Given the description of an element on the screen output the (x, y) to click on. 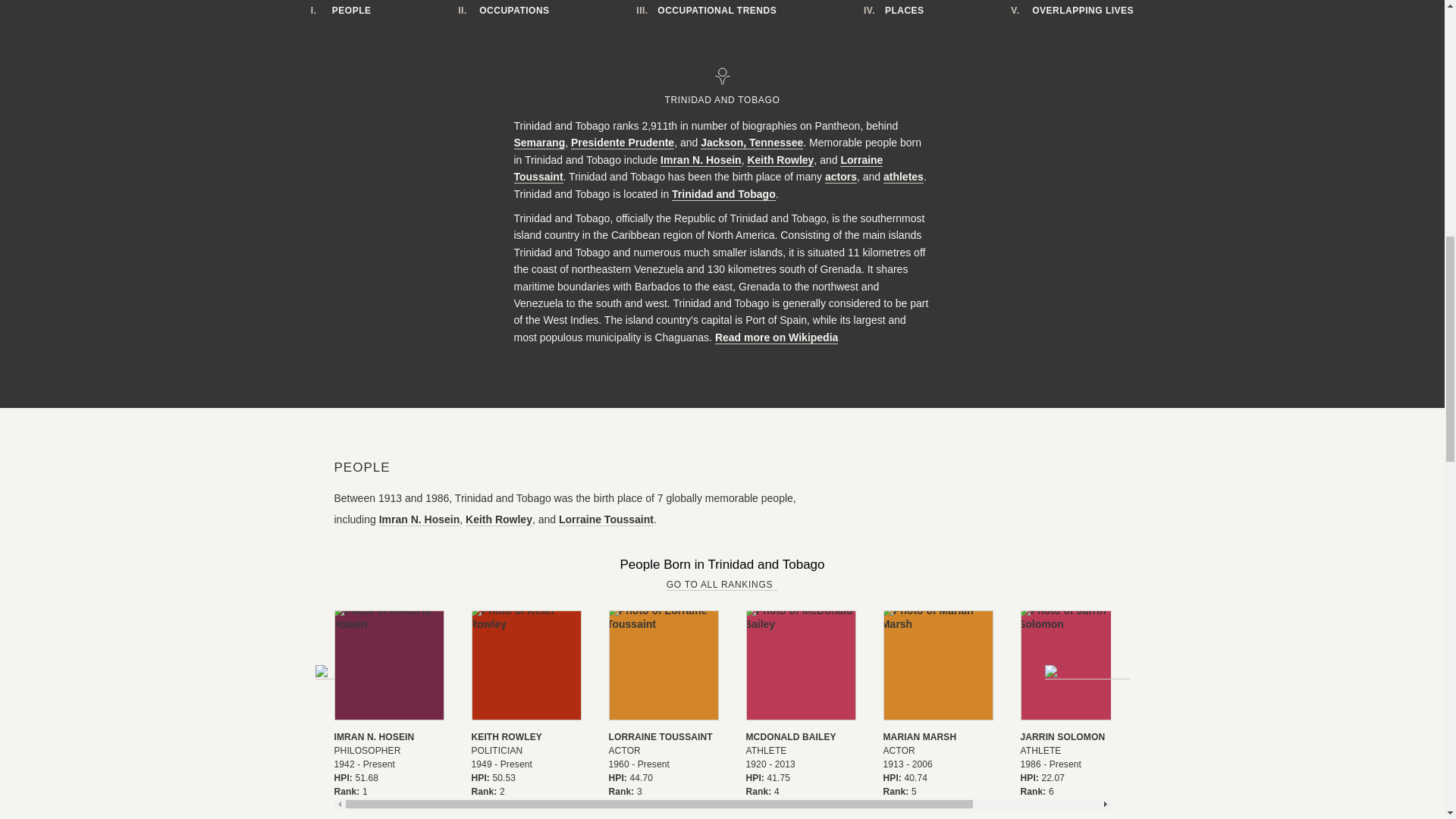
OCCUPATIONS (505, 10)
OCCUPATIONAL TRENDS (708, 10)
OVERLAPPING LIVES (1073, 10)
actors (841, 176)
PEOPLE (343, 10)
Read more on Wikipedia (776, 337)
Lorraine Toussaint (698, 168)
Trinidad and Tobago (723, 194)
Presidente Prudente (622, 142)
Keith Rowley (779, 160)
Semarang (539, 142)
PLACES (895, 10)
athletes (903, 176)
Imran N. Hosein (701, 160)
Jackson, Tennessee (751, 142)
